Given the description of an element on the screen output the (x, y) to click on. 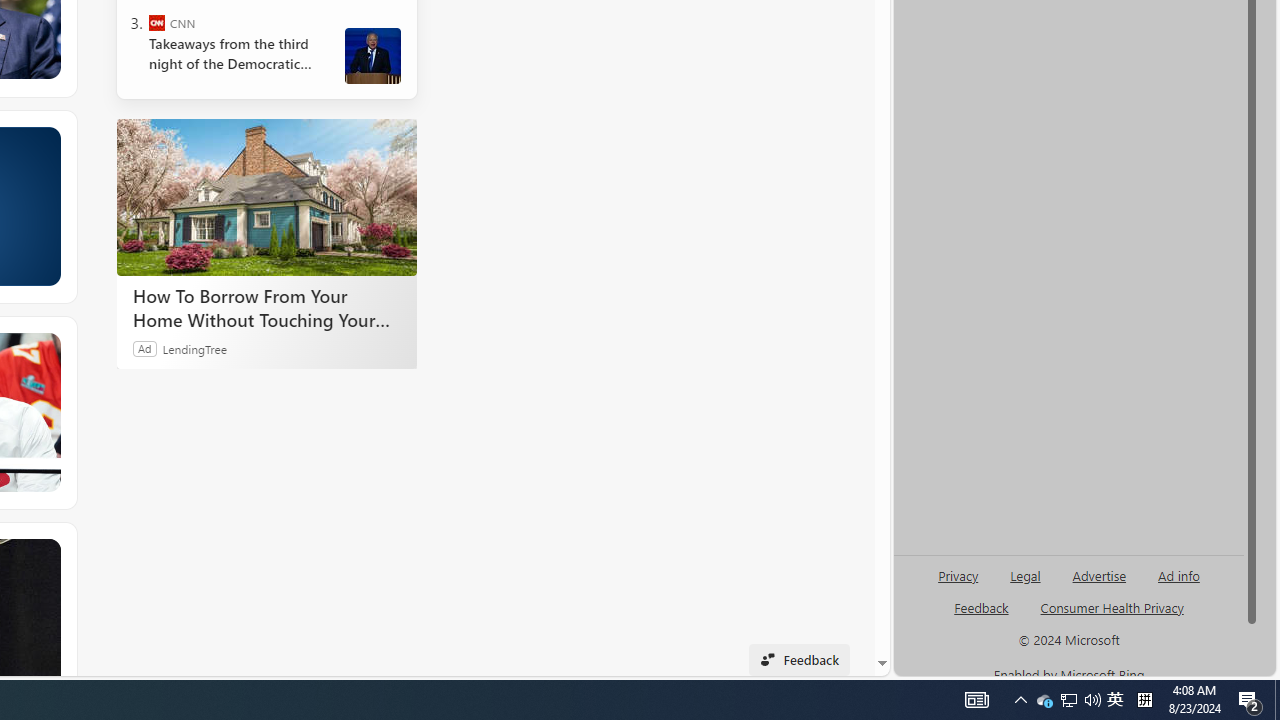
AutomationID: genId96 (981, 615)
LendingTree (194, 348)
AutomationID: sb_feedback (980, 607)
CNN (156, 22)
